Given the description of an element on the screen output the (x, y) to click on. 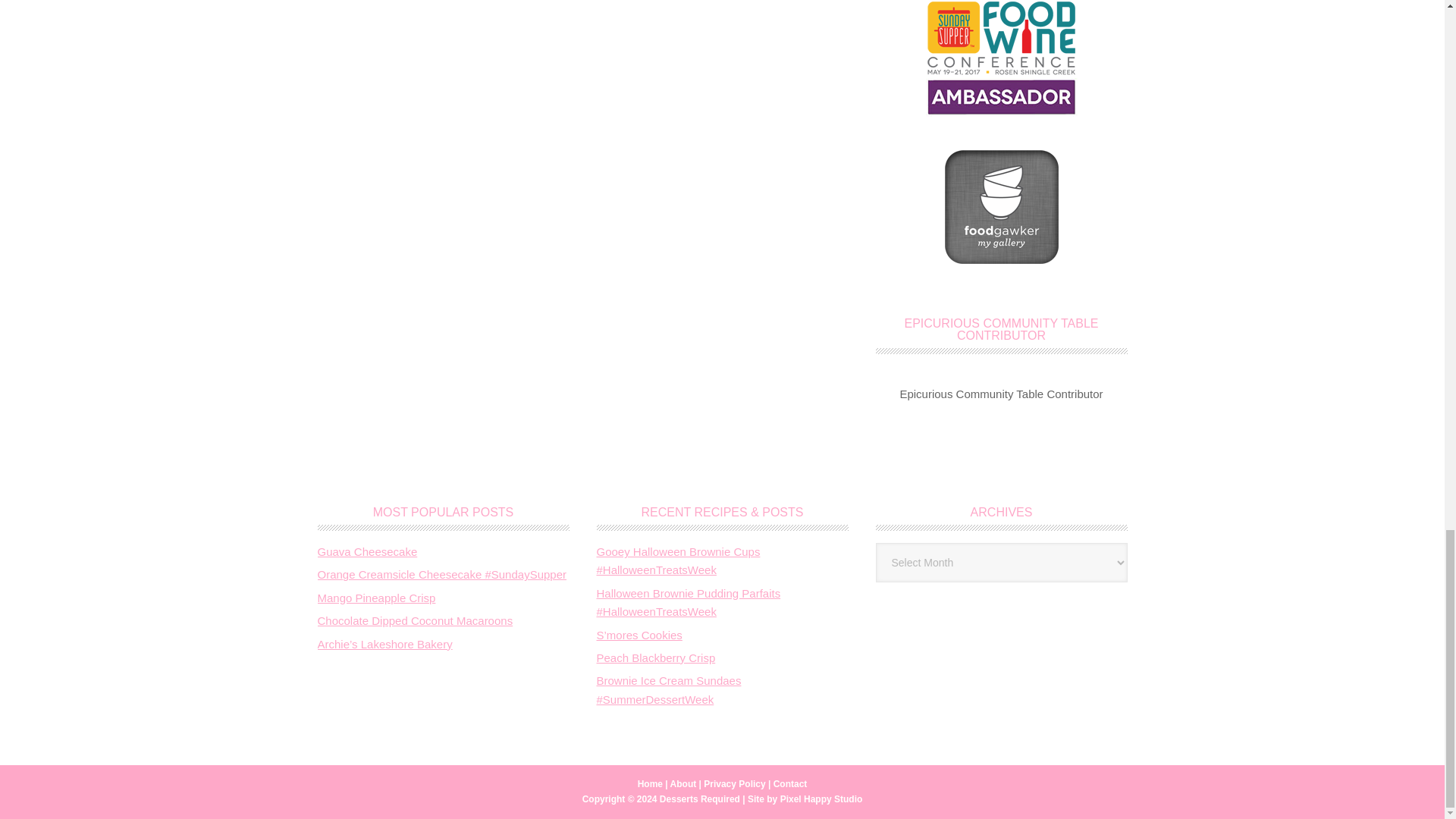
Chocolate Dipped Coconut Macaroons (414, 620)
Guava Cheesecake (366, 551)
Mango Pineapple Crisp (376, 597)
my foodgawker gallery (1001, 259)
